Given the description of an element on the screen output the (x, y) to click on. 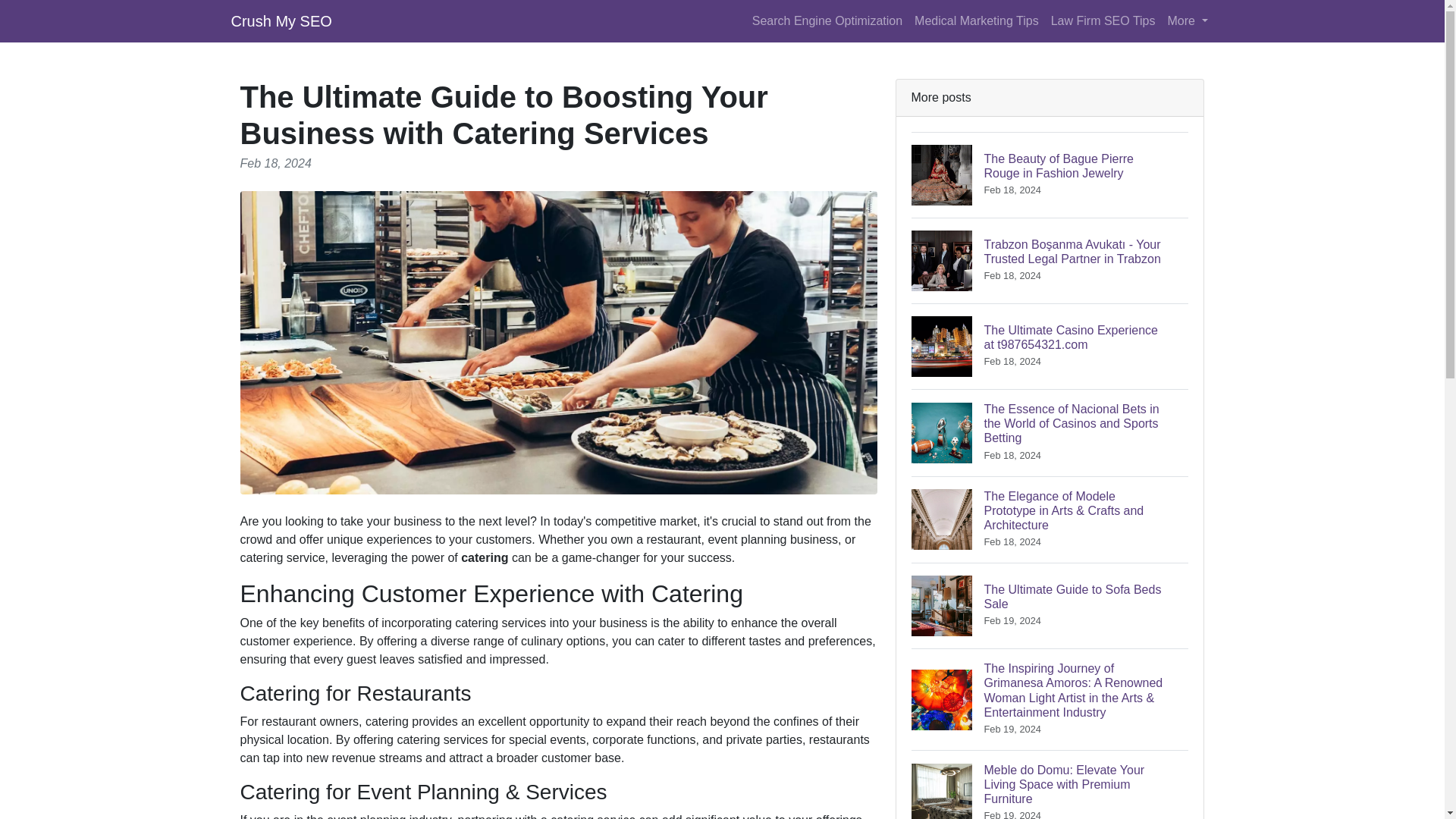
Search Engine Optimization (826, 20)
Law Firm SEO Tips (1050, 605)
Crush My SEO (1103, 20)
Medical Marketing Tips (280, 20)
More (976, 20)
